Given the description of an element on the screen output the (x, y) to click on. 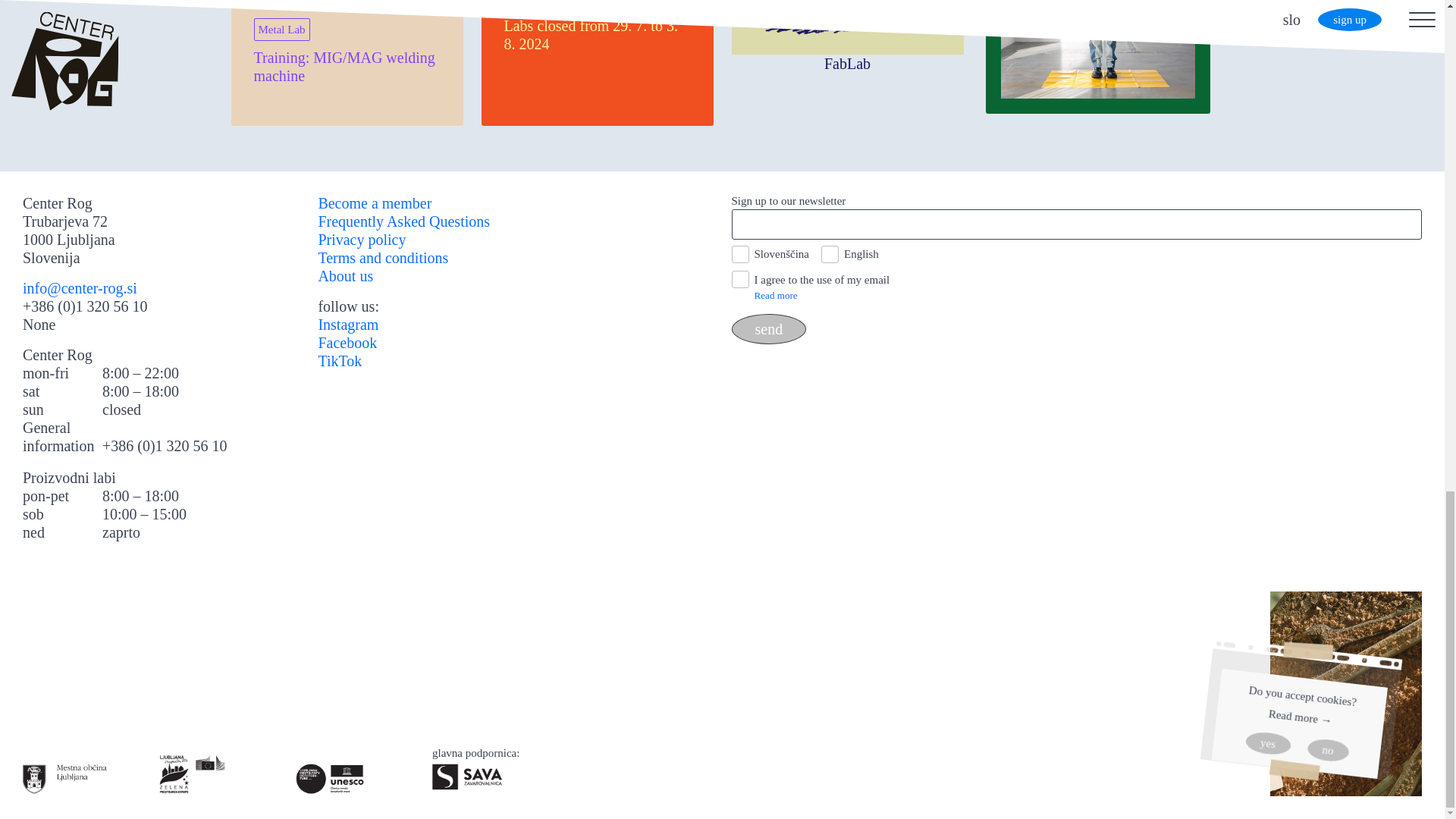
Y (739, 279)
Frequently Asked Questions (403, 221)
English (829, 253)
Become a member (373, 203)
FabLab (596, 63)
send (846, 36)
Instagram (768, 328)
Visit studio (347, 325)
send (1097, 82)
